Given the description of an element on the screen output the (x, y) to click on. 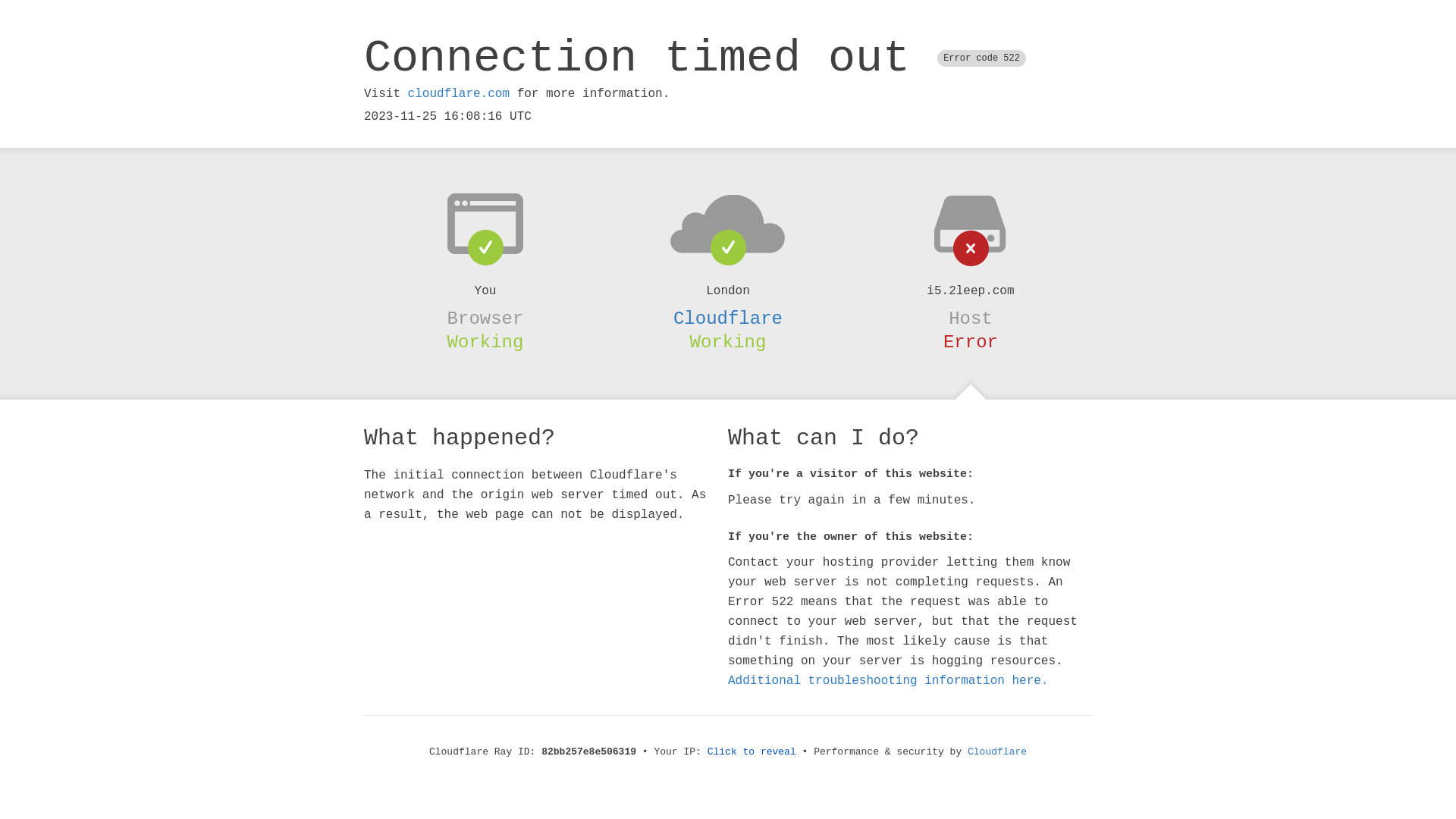
Additional troubleshooting information here. Element type: text (888, 680)
Cloudflare Element type: text (727, 318)
Cloudflare Element type: text (996, 751)
Click to reveal Element type: text (751, 751)
cloudflare.com Element type: text (458, 93)
